Given the description of an element on the screen output the (x, y) to click on. 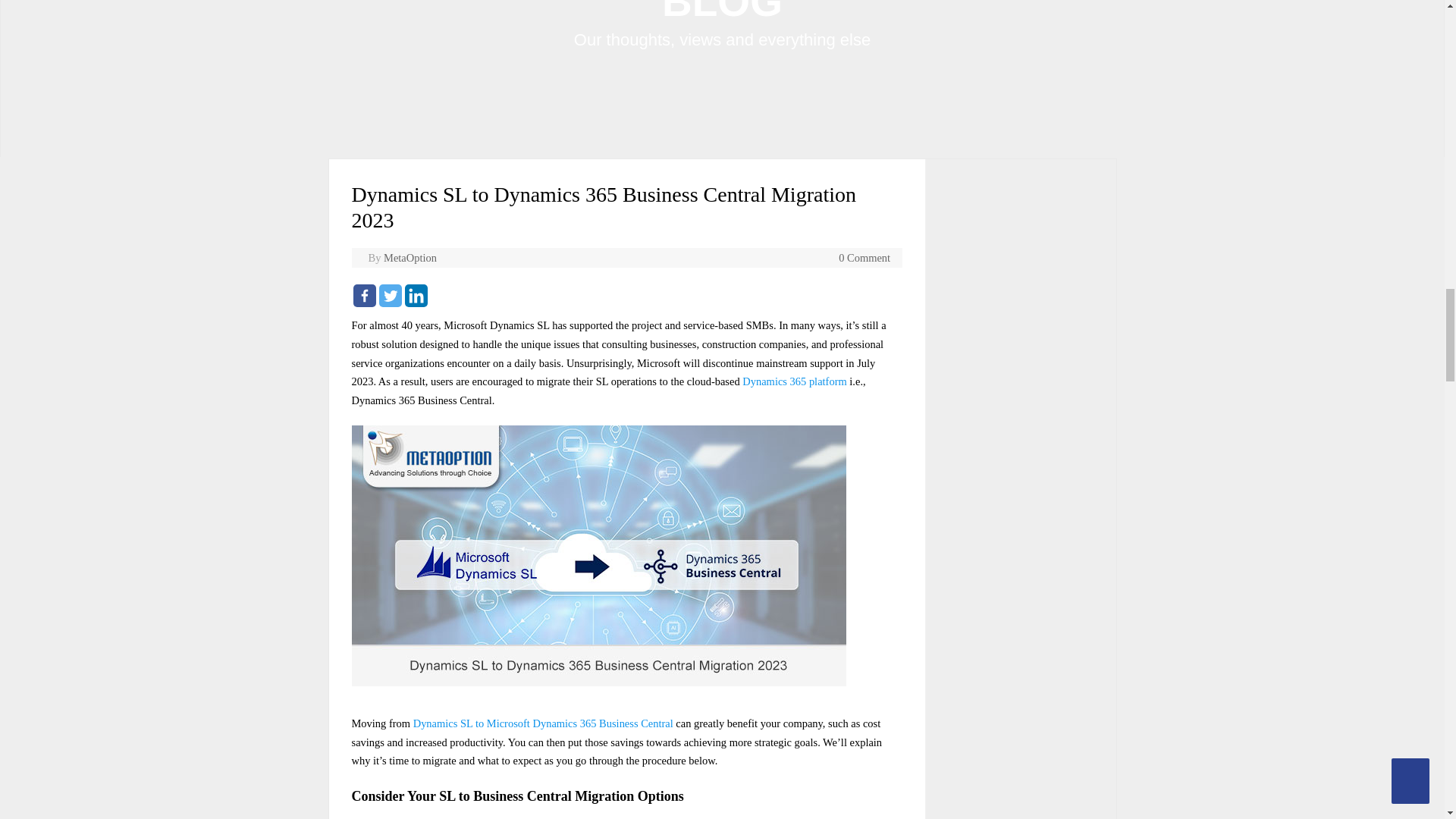
Skip to content (755, 162)
Facebook (364, 295)
Twitter (389, 295)
Linkedin (416, 295)
Posts by MetaOption (410, 257)
